Given the description of an element on the screen output the (x, y) to click on. 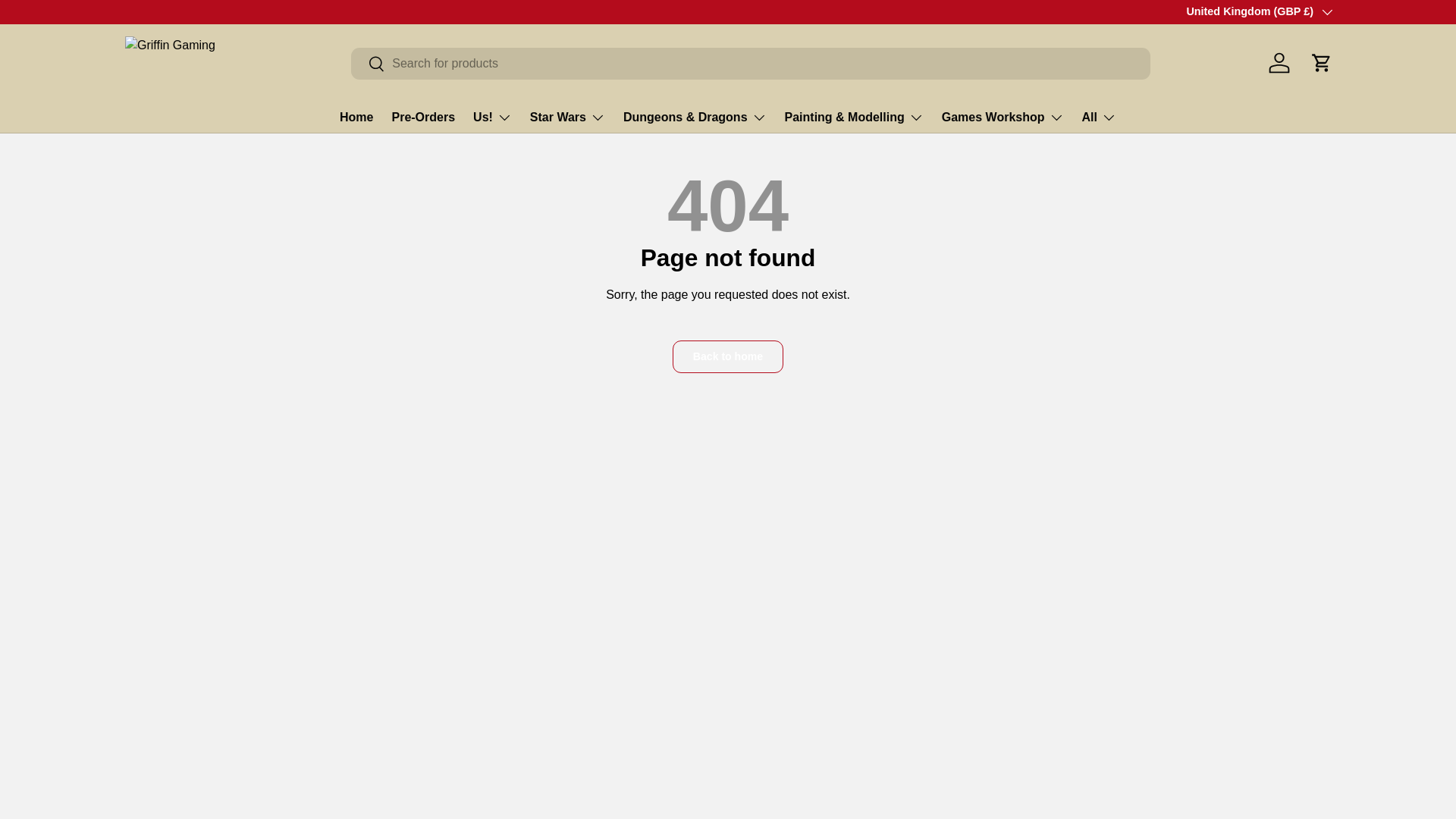
Cart (1321, 62)
Us! (492, 117)
Home (355, 116)
Search (367, 64)
Star Wars (567, 117)
Log in (1278, 62)
Skip to content (68, 21)
Pre-Orders (422, 116)
